Given the description of an element on the screen output the (x, y) to click on. 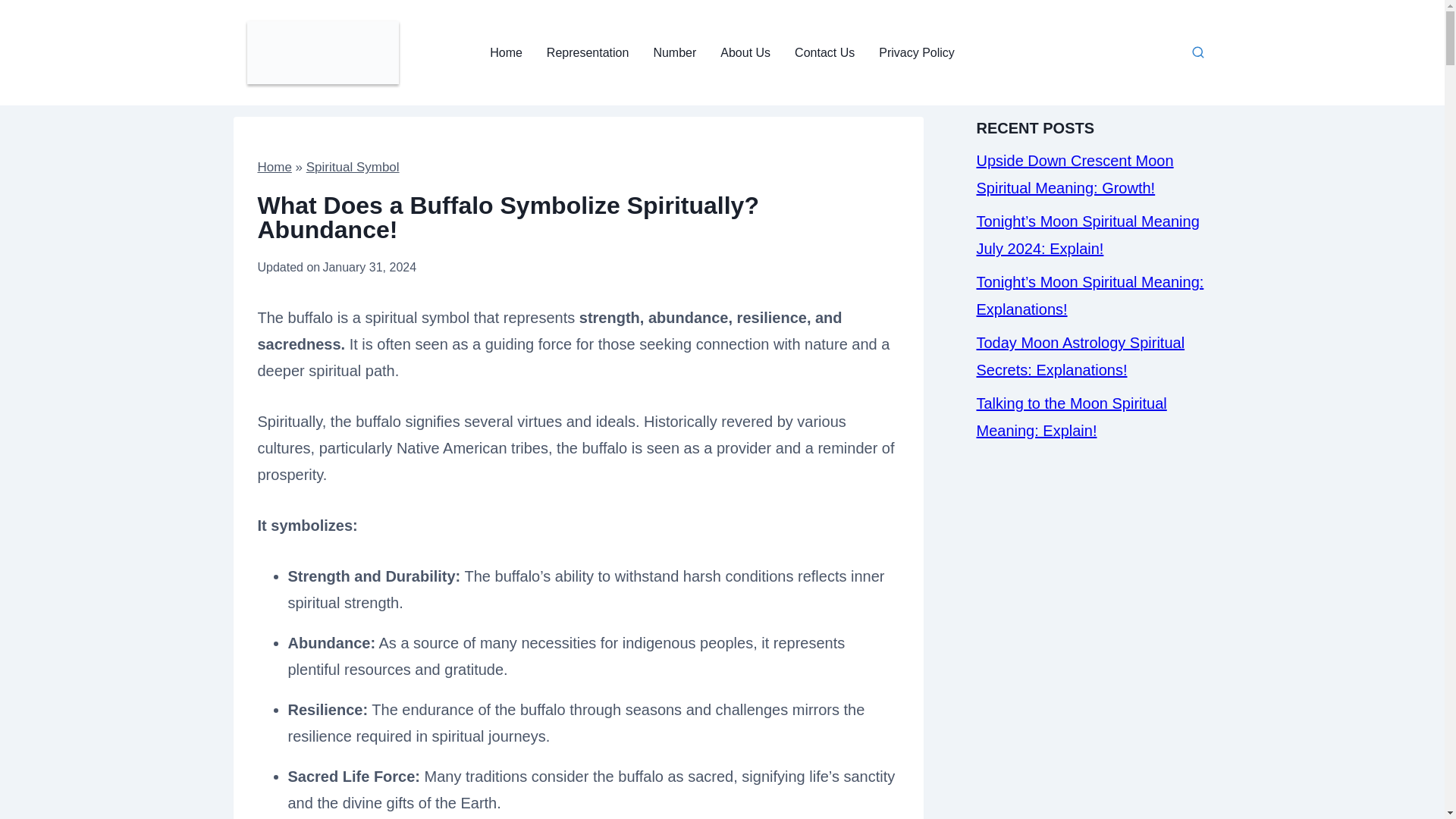
About Us (745, 52)
Contact Us (824, 52)
Number (673, 52)
Representation (588, 52)
Spiritual Symbol (351, 166)
Privacy Policy (916, 52)
Home (274, 166)
Home (505, 52)
